Given the description of an element on the screen output the (x, y) to click on. 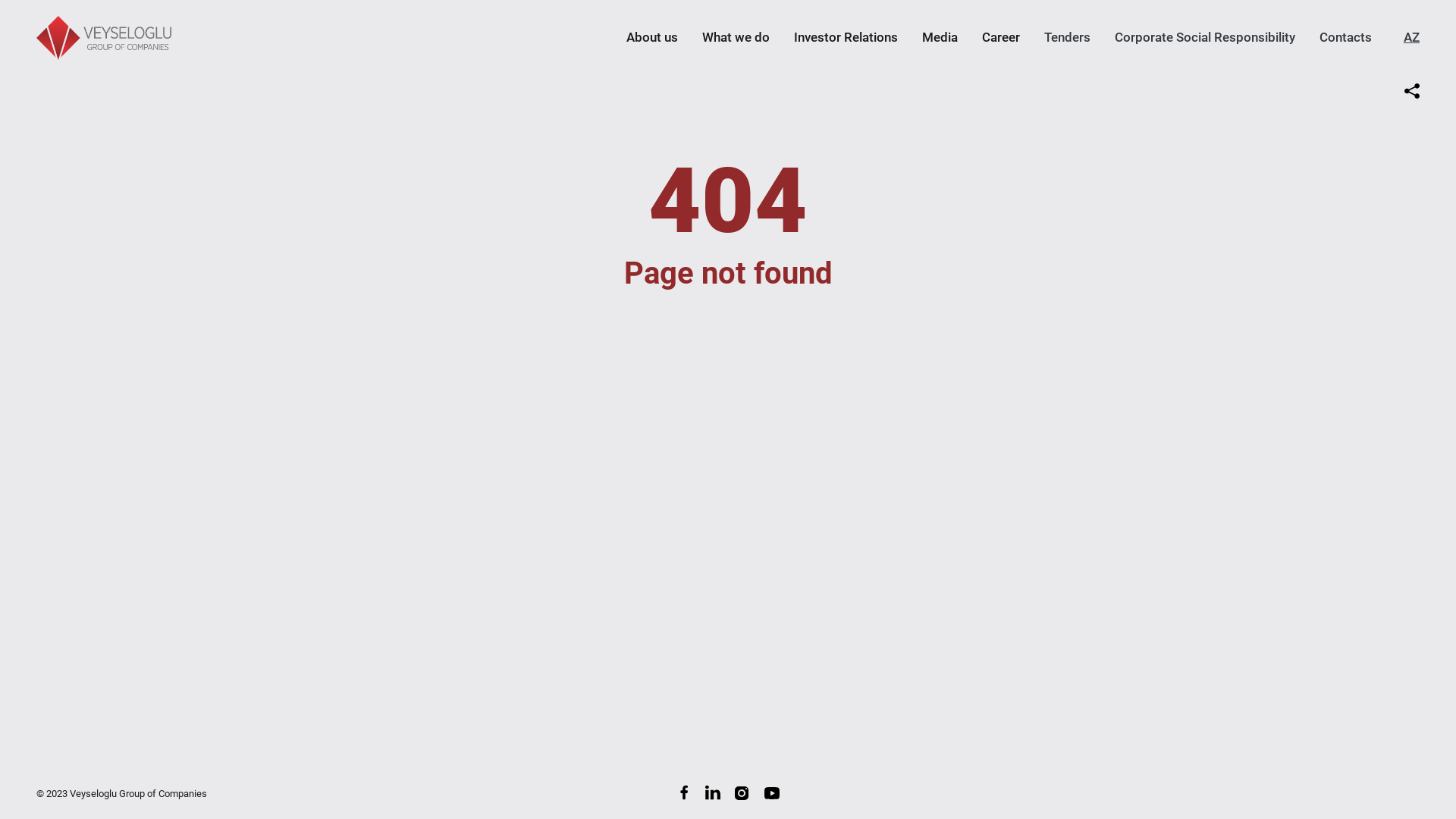
Tenders Element type: text (1067, 36)
Investor Relations Element type: text (845, 36)
About us Element type: text (651, 36)
Corporate Social Responsibility Element type: text (1204, 36)
What we do Element type: text (735, 36)
Media Element type: text (939, 36)
Contacts Element type: text (1345, 36)
AZ Element type: text (1411, 36)
Career Element type: text (1000, 36)
